Given the description of an element on the screen output the (x, y) to click on. 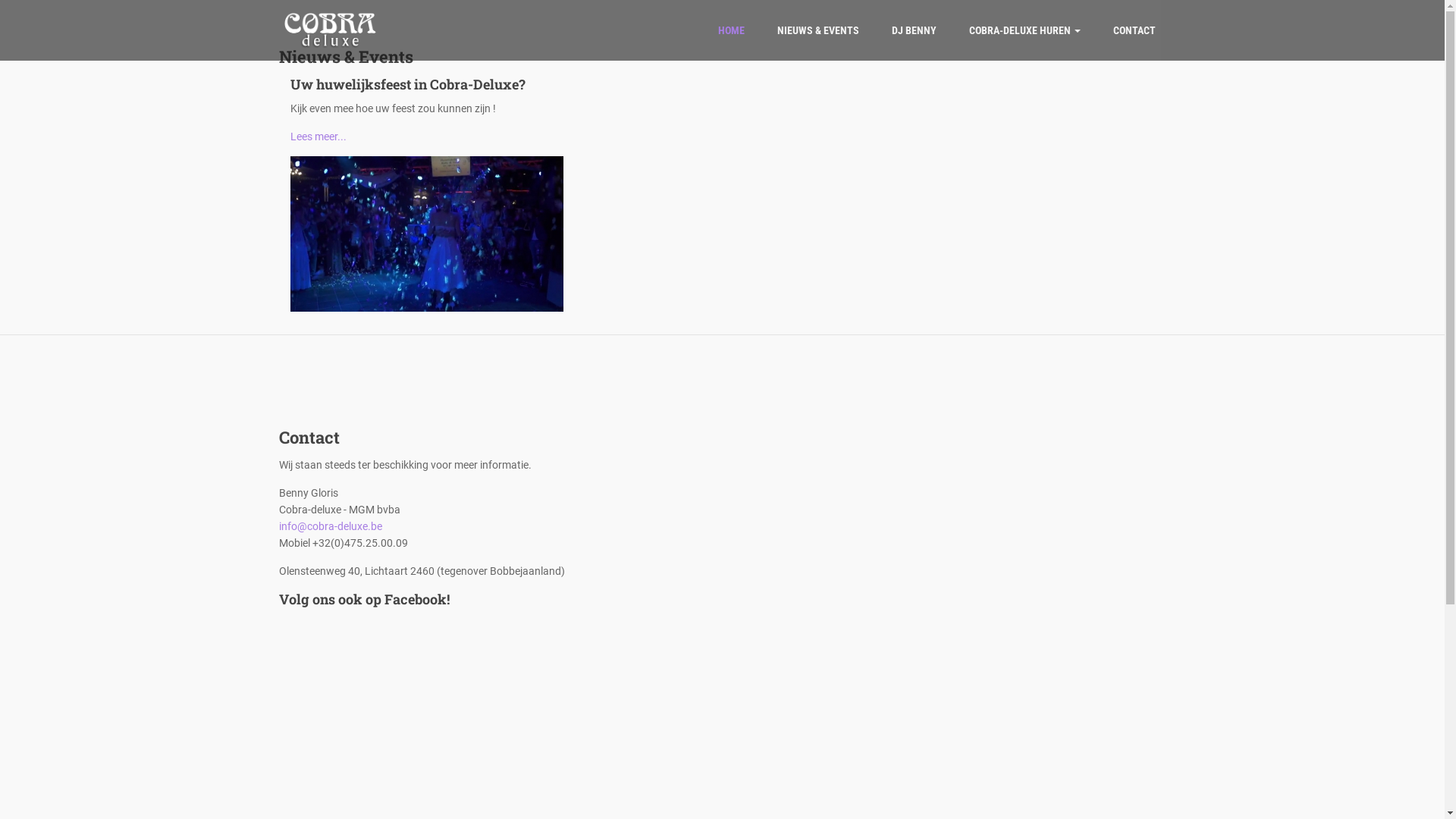
NIEUWS & EVENTS Element type: text (817, 30)
COBRA-DELUXE HUREN Element type: text (1024, 30)
Lees meer... Element type: text (317, 136)
HOME Element type: text (730, 30)
DJ BENNY Element type: text (914, 30)
CONTACT Element type: text (1134, 30)
Lees verder "Uw huwelijksfeest in Cobra-Deluxe?" Element type: hover (425, 232)
